Given the description of an element on the screen output the (x, y) to click on. 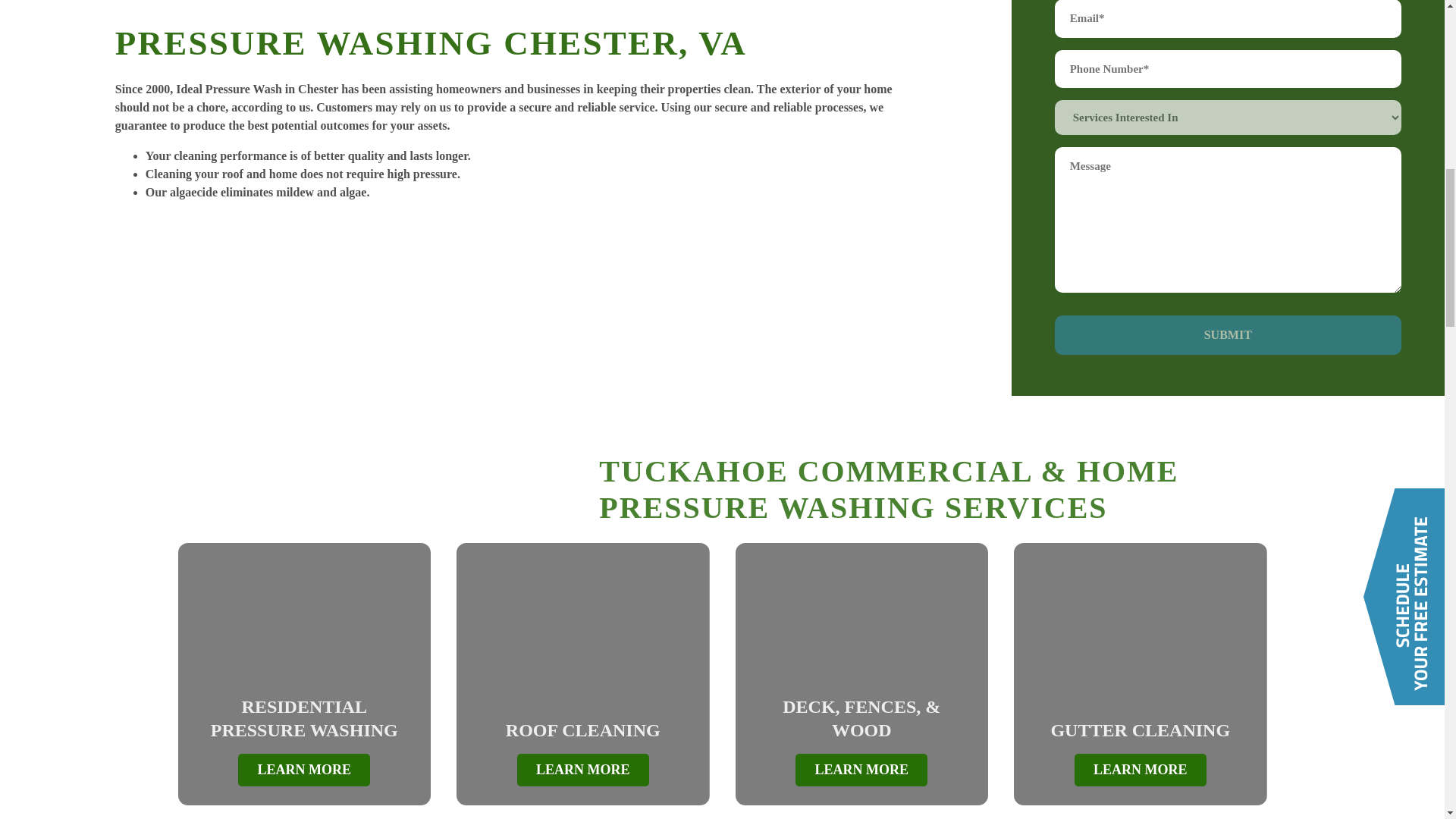
Submit (1227, 334)
